Given the description of an element on the screen output the (x, y) to click on. 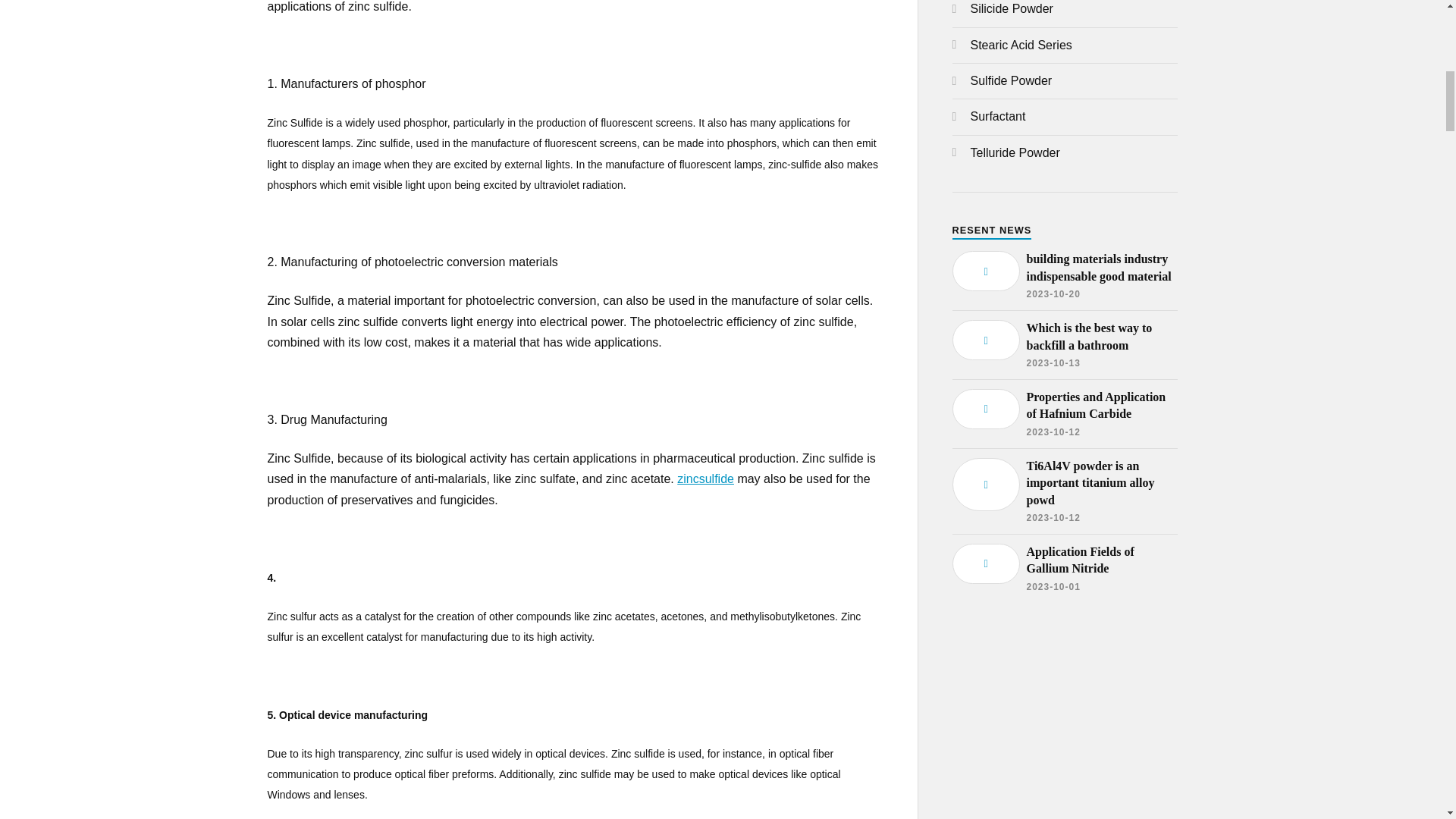
Zinc Sulfide (705, 478)
